Given the description of an element on the screen output the (x, y) to click on. 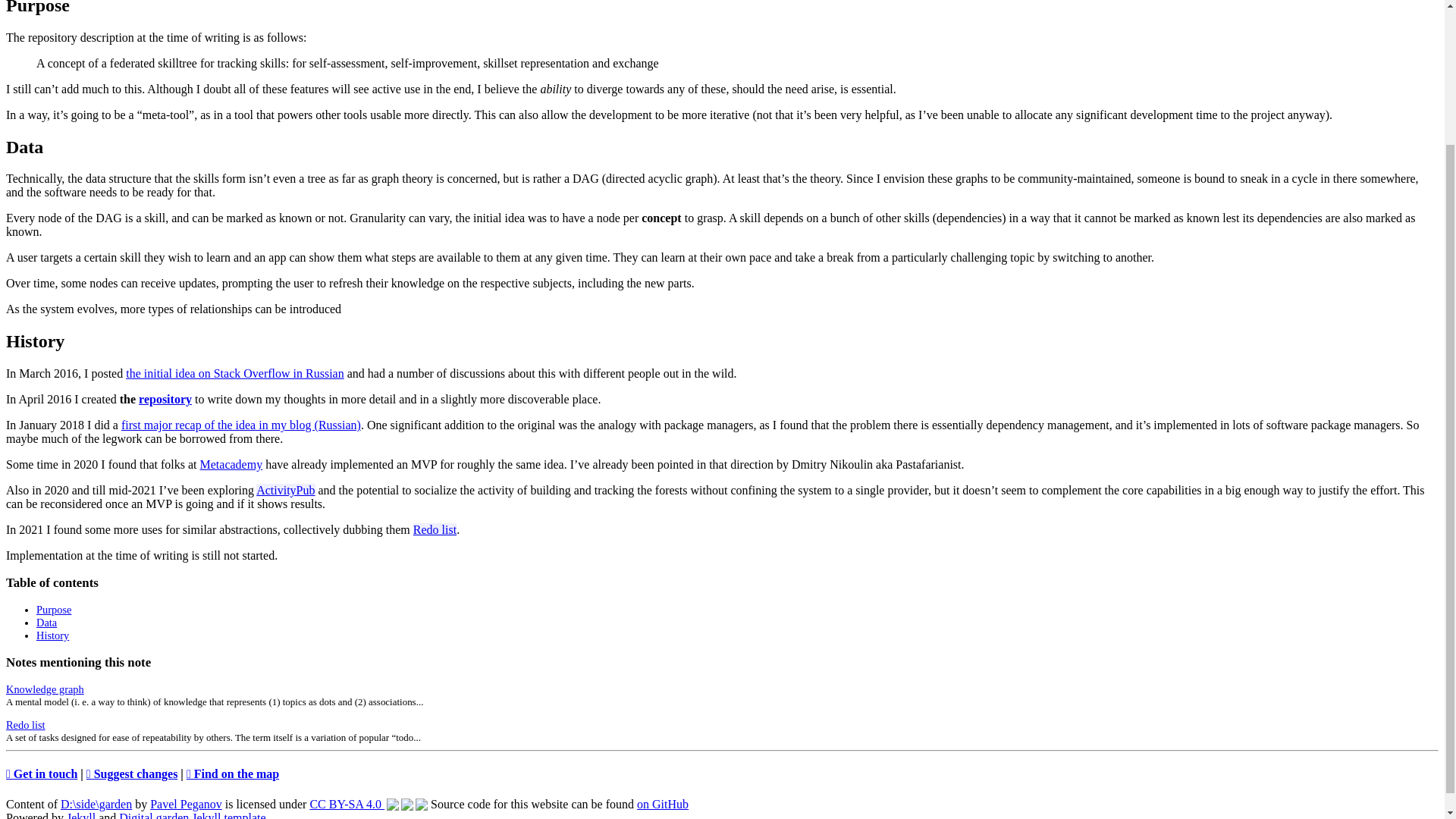
Pavel Peganov (185, 803)
on GitHub (662, 803)
Data (46, 622)
Open the region of the map around this page (232, 773)
the initial idea on Stack Overflow in Russian (234, 373)
repository (165, 399)
Redo list (435, 529)
ActivityPub (285, 490)
History (52, 635)
Metacademy (231, 463)
